Given the description of an element on the screen output the (x, y) to click on. 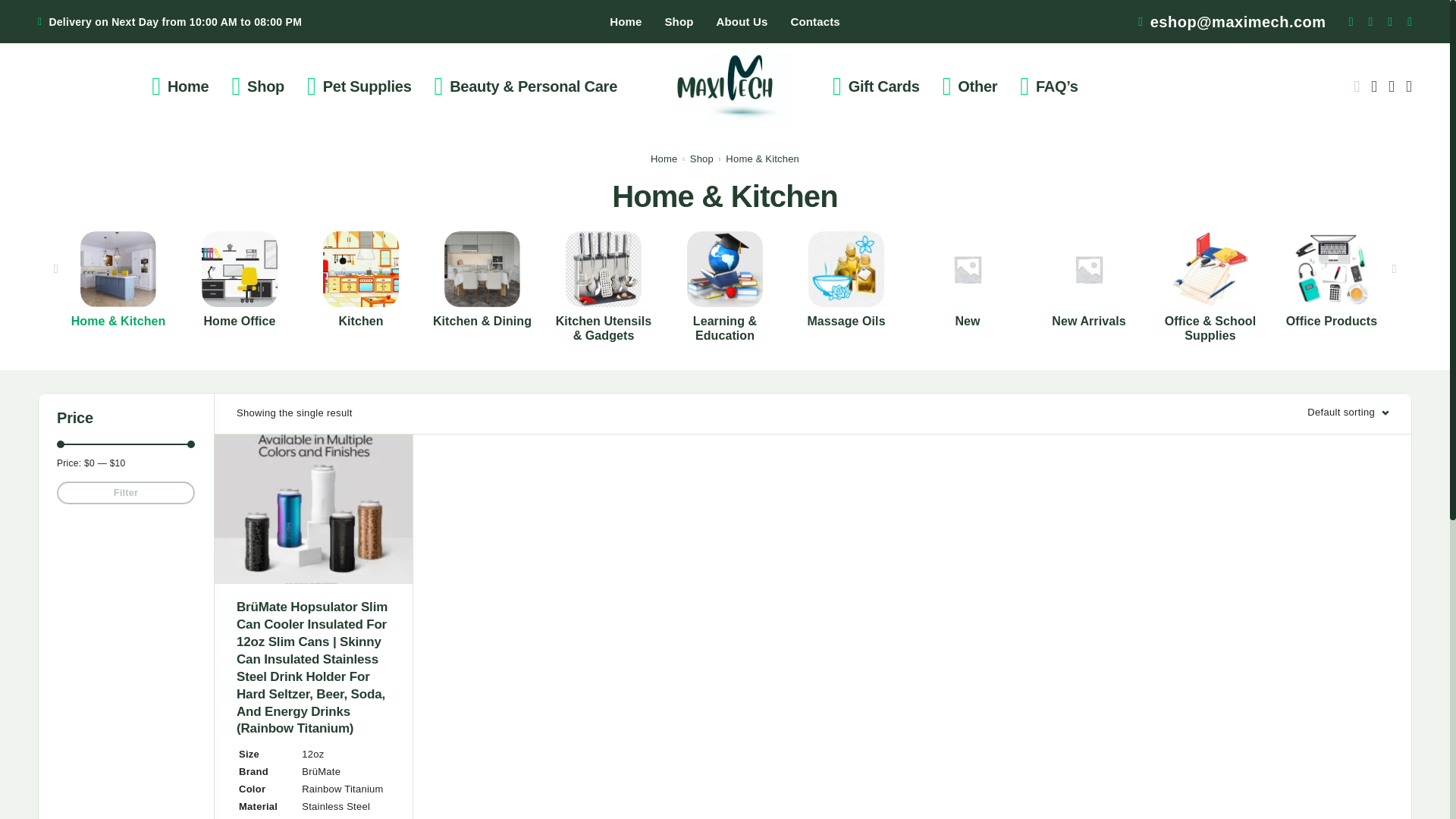
Home (626, 21)
Login (1374, 86)
About Us (742, 21)
Shop (678, 21)
Gift Cards (876, 86)
Home (179, 86)
Pet Supplies (358, 86)
Other (970, 86)
Contacts (815, 21)
Shop (257, 86)
